Given the description of an element on the screen output the (x, y) to click on. 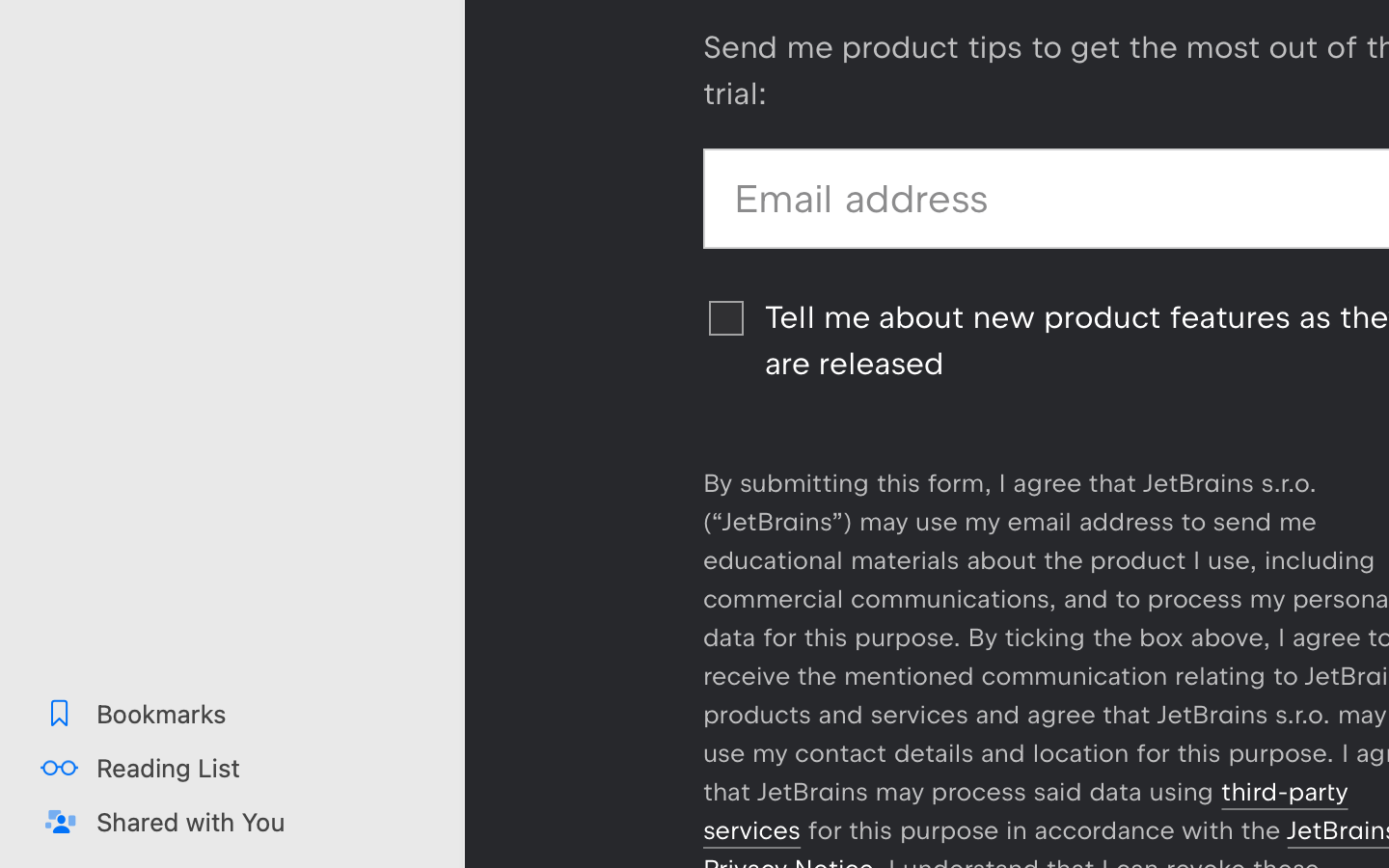
third-party services Element type: AXStaticText (1025, 810)
for this purpose in accordance with the Element type: AXStaticText (1044, 829)
